Given the description of an element on the screen output the (x, y) to click on. 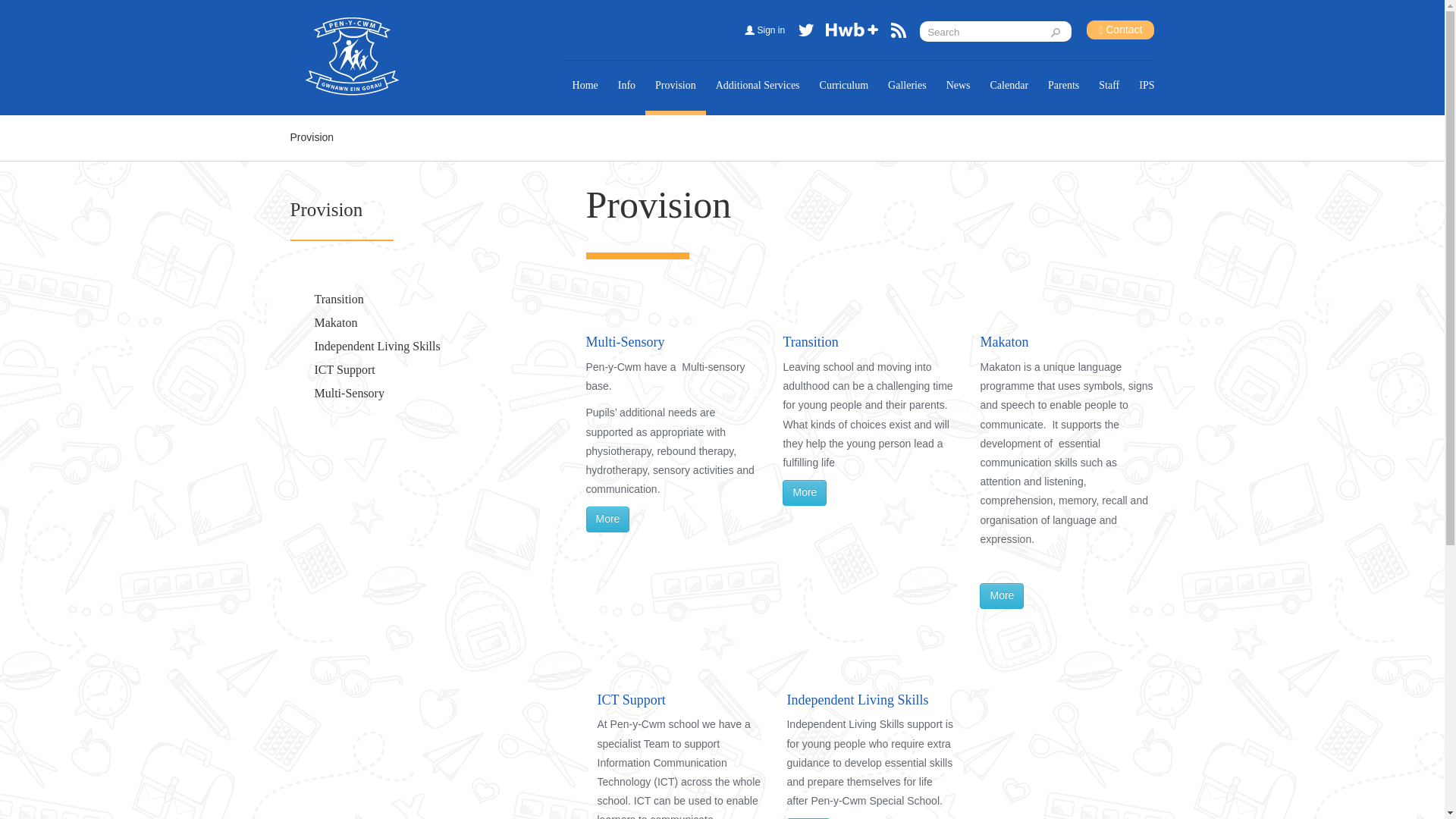
Provision (325, 209)
Hwb (852, 32)
Galleries (906, 85)
Multi-Sensory (349, 392)
ICT Support (344, 369)
Curriculum (844, 85)
Makaton (335, 322)
Transition (338, 298)
Additional Services (757, 85)
GO (1058, 31)
